Given the description of an element on the screen output the (x, y) to click on. 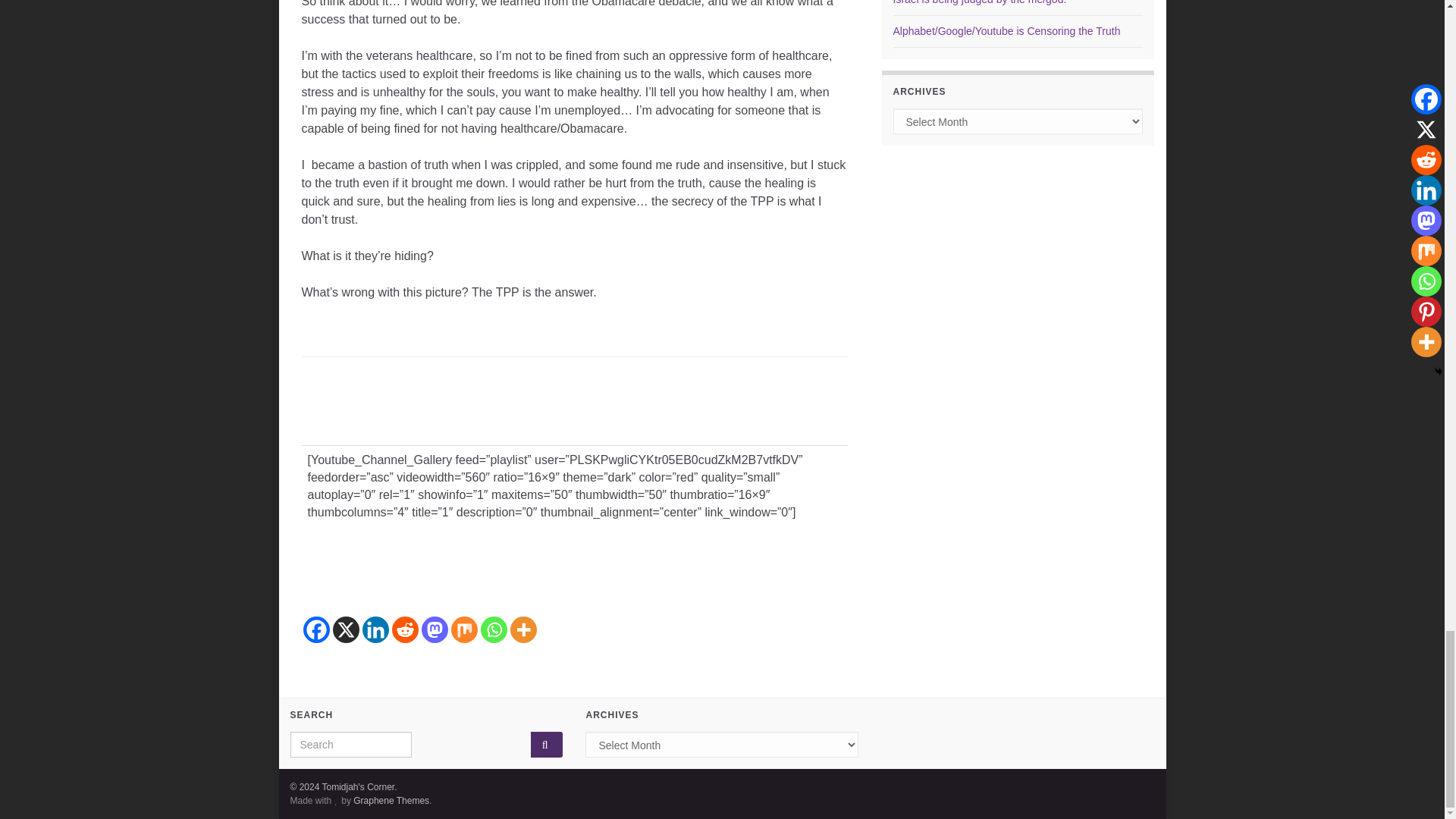
Linkedin (375, 629)
Whatsapp (493, 629)
Mastodon (435, 629)
X (344, 629)
More (522, 629)
Facebook (316, 629)
Mix (463, 629)
Reddit (404, 629)
